Given the description of an element on the screen output the (x, y) to click on. 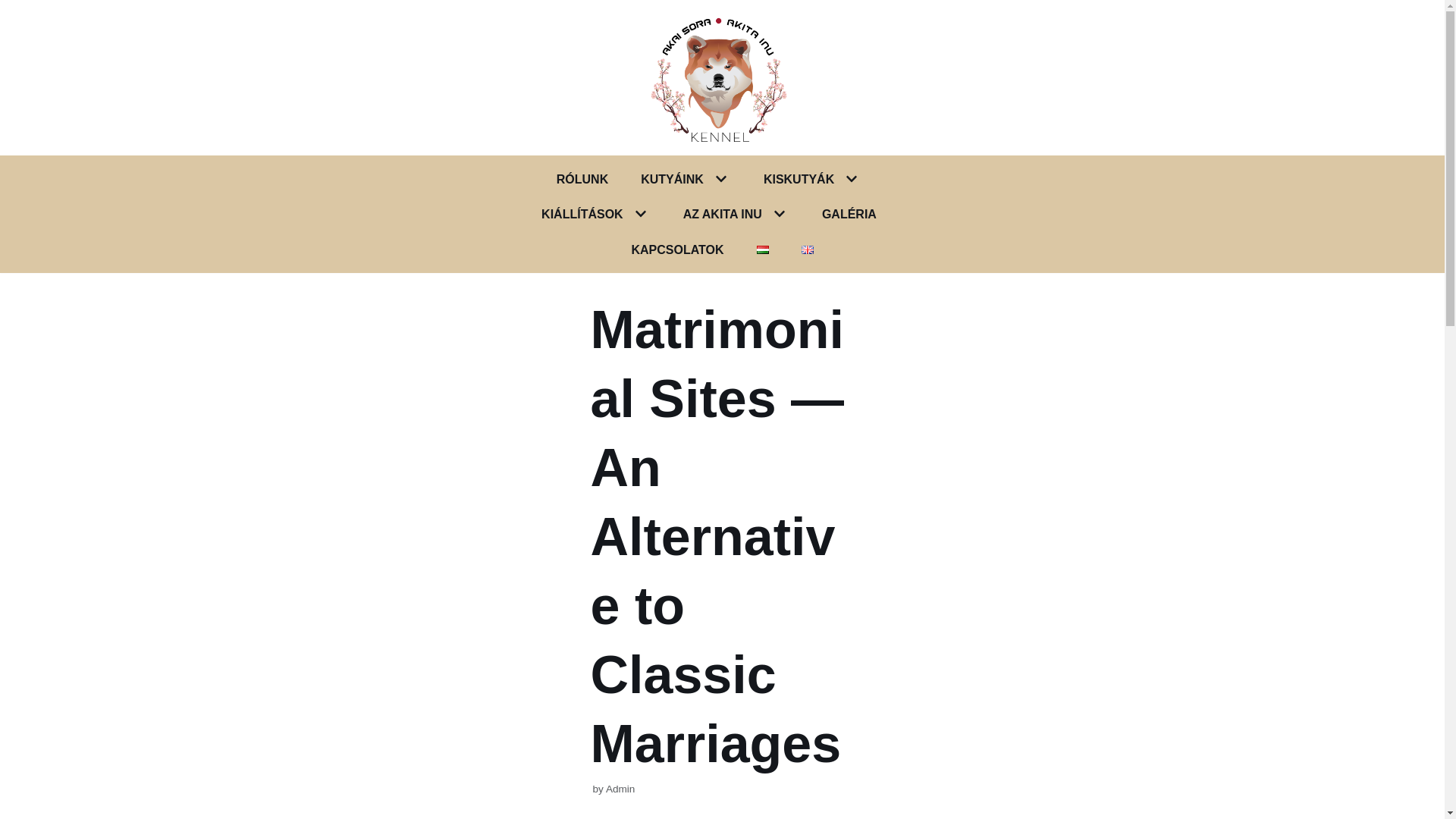
Akai sora- Akita inu kennel (722, 77)
KAPCSOLATOK (676, 249)
Posts by Admin (619, 788)
AZ AKITA INU (721, 213)
Skip to content (15, 7)
